Given the description of an element on the screen output the (x, y) to click on. 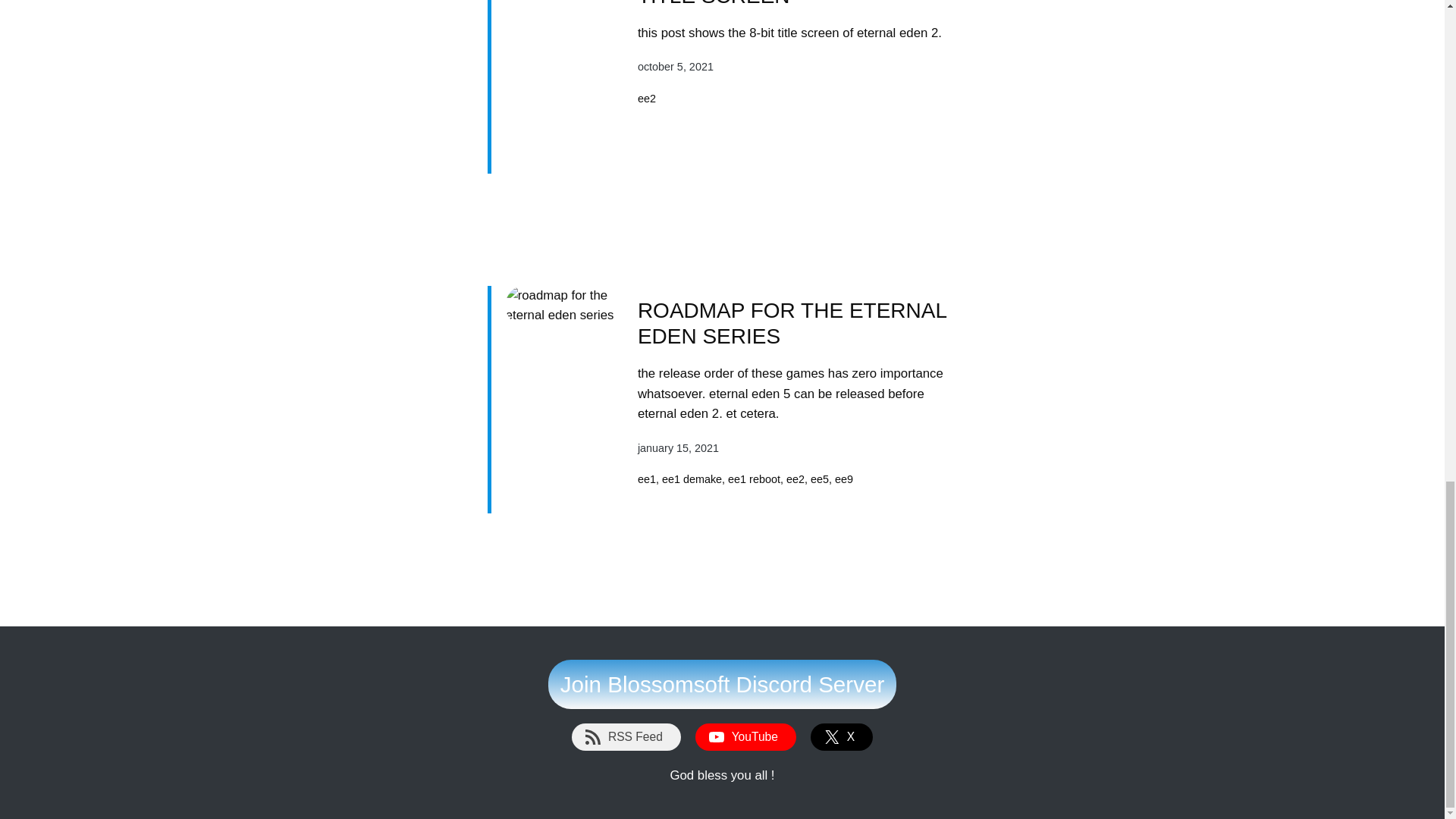
ee1 (646, 479)
Join Blossomsoft Discord Server (722, 684)
ee1 demake (692, 479)
ee2 (795, 479)
ROADMAP FOR THE ETERNAL EDEN SERIES (797, 323)
ee9 (843, 479)
ee1 reboot (754, 479)
ee5 (819, 479)
ETERNAL EDEN 2 TEASER TITLE SCREEN (797, 4)
ee2 (646, 98)
